Given the description of an element on the screen output the (x, y) to click on. 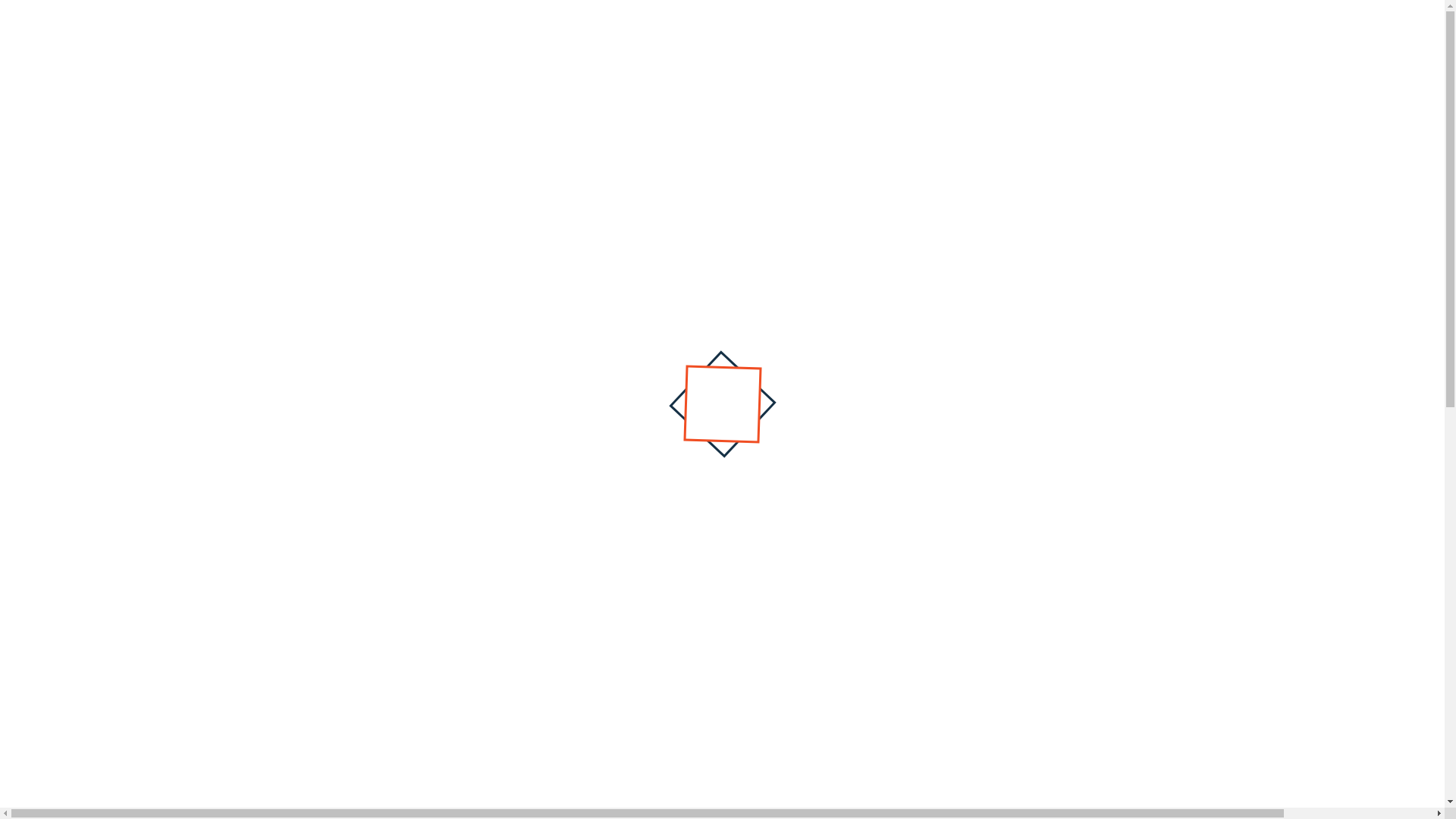
Home Element type: text (293, 269)
NEWS
What's been happening in the material world Element type: text (1076, 383)
PUBLICATIONS Element type: text (755, 191)
Awards Element type: text (973, 112)
MA Shopations Element type: text (351, 269)
Student Pathways Element type: text (943, 112)
Claude A Stewart Award Element type: text (1383, 129)
EVENTS Element type: text (755, 138)
Log in Element type: text (1151, 13)
Honorary Membership Element type: text (987, 118)
Tertiary Institutions Element type: text (800, 112)
MEMBERSHIP Element type: text (755, 112)
Our Services Element type: text (692, 118)
Training Courses Element type: text (657, 112)
Silver Medal Element type: text (1078, 118)
CMatP Members Element type: text (990, 112)
EVENTS
Conferences, training and much more Element type: text (1076, 711)
MEMBERSHIP
Renew your membership for 2023/24 Element type: text (1076, 547)
Student Element type: text (485, 112)
Graduate Element type: text (573, 112)
ActaMaterialia Gold Medal Element type: text (1284, 118)
CMatP Element type: text (953, 112)
imea@materialsaustralia.com.au Element type: text (514, 13)
Corporate Element type: text (867, 112)
ABOUT MA Element type: text (755, 59)
Promote Your Company With Us Element type: text (887, 129)
SHOP Element type: text (755, 165)
Company Members Element type: text (1060, 118)
TRAINING Element type: text (755, 85)
Distinguished Service Award Element type: text (1171, 123)
Careers And Employment Element type: text (787, 118)
Online Training Courses Element type: text (515, 118)
Organisational Structure & Responsibility Element type: text (502, 123)
CONTACT Element type: text (755, 218)
International Element type: text (765, 112)
+61 3 9326 7266 Element type: text (336, 13)
About The Materials Industry Element type: text (605, 129)
Special Interest Groups (SIGS) Element type: text (1032, 129)
Individual Element type: text (665, 112)
